Given the description of an element on the screen output the (x, y) to click on. 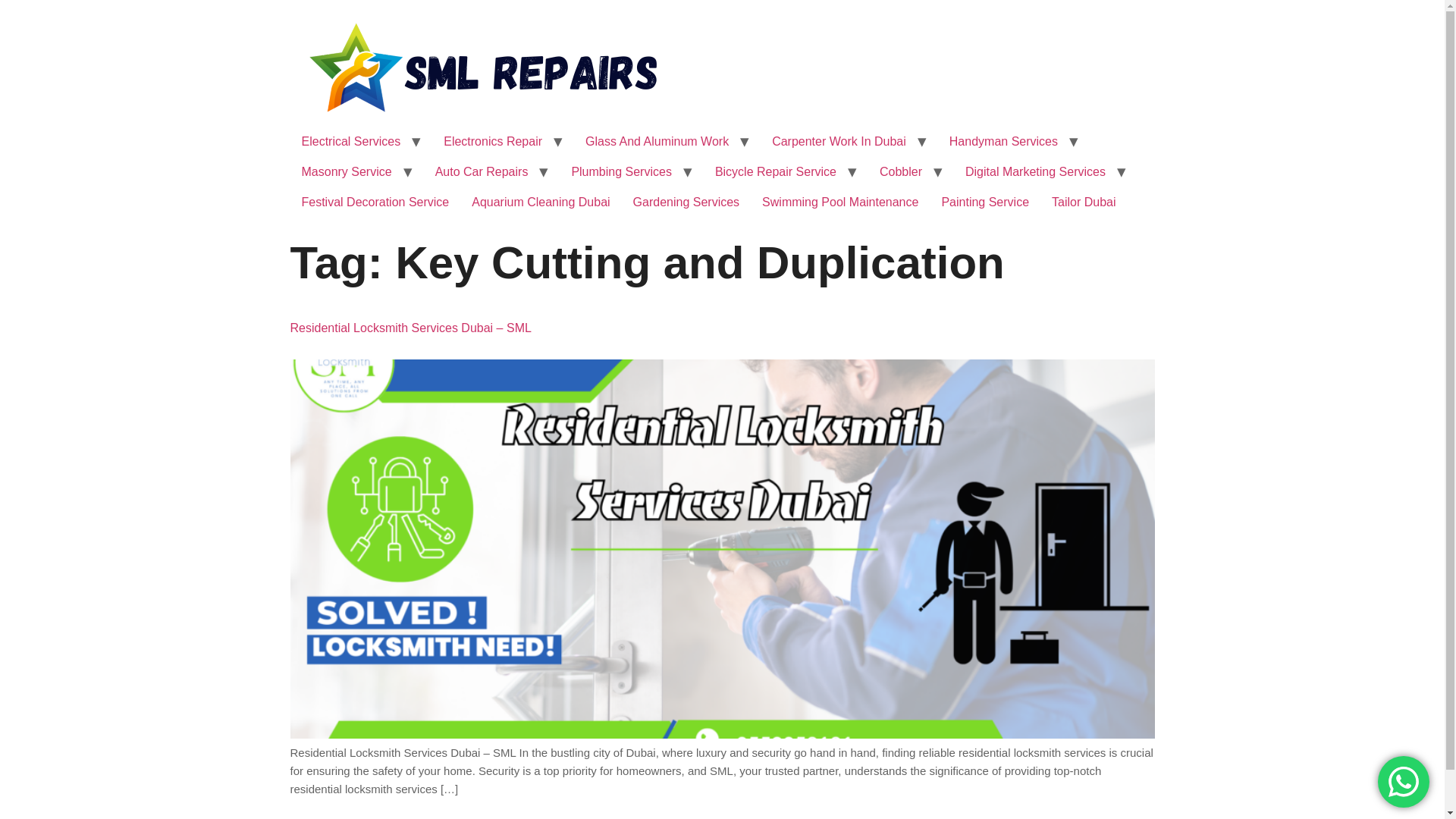
Electronics Repair (492, 141)
WhatsApp us (1403, 781)
Glass And Aluminum Work (656, 141)
Electrical Services (350, 141)
